Given the description of an element on the screen output the (x, y) to click on. 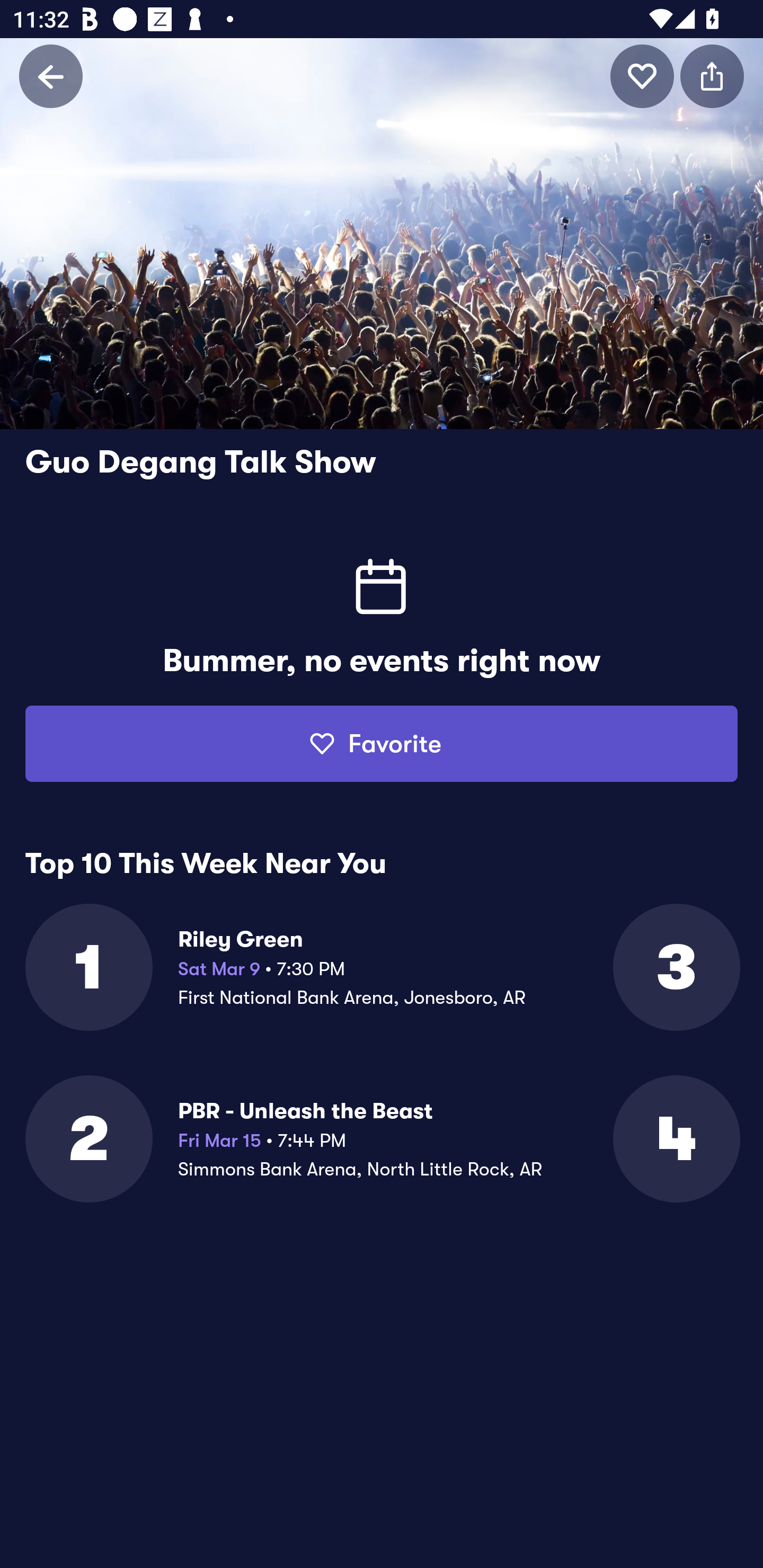
Back (50, 75)
icon button (641, 75)
icon button (711, 75)
Favorite (381, 743)
3 (675, 967)
4 (675, 1138)
